Given the description of an element on the screen output the (x, y) to click on. 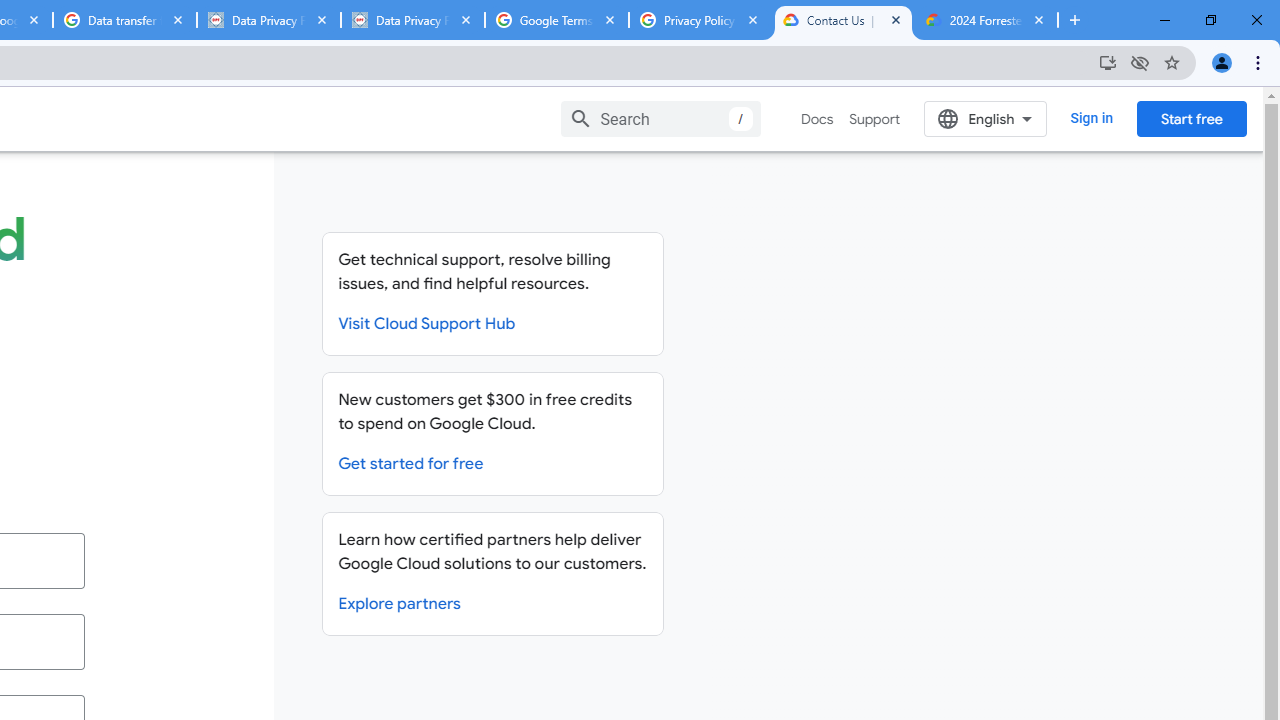
English (985, 118)
Data Privacy Framework (268, 20)
Start free (1191, 118)
Docs (817, 119)
